Given the description of an element on the screen output the (x, y) to click on. 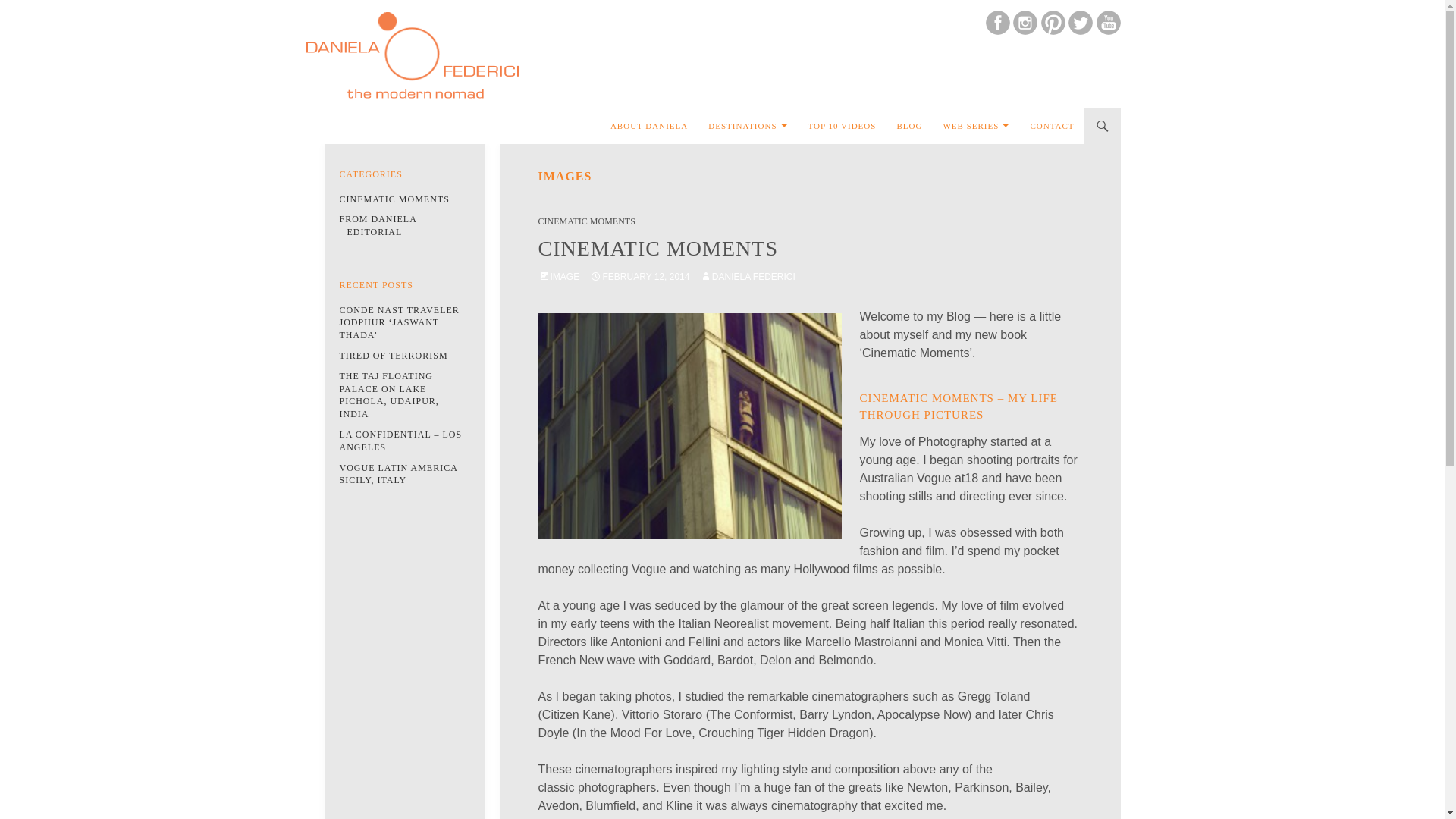
ABOUT DANIELA (649, 125)
DESTINATIONS (747, 125)
SKIP TO CONTENT (647, 113)
TIRED OF TERRORISM (393, 355)
Youtube (1108, 21)
Instagram (1027, 21)
The Taj Floating Palace on Lake Pichola, Udaipur, India (389, 395)
Pinterest (1054, 21)
Search (323, 116)
Twitter (1082, 21)
Facebook (999, 21)
